Given the description of an element on the screen output the (x, y) to click on. 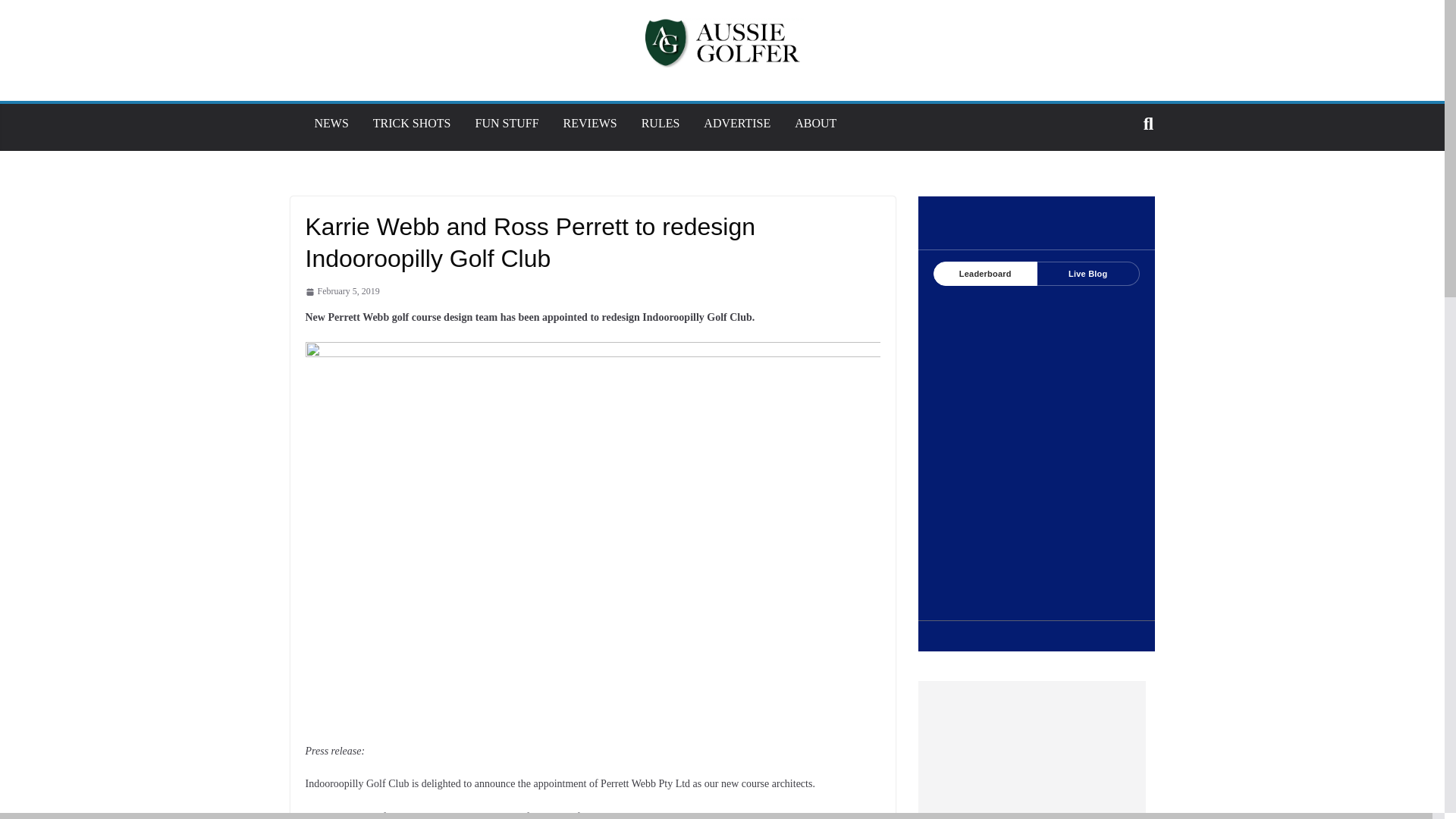
February 5, 2019 (341, 291)
11:20 (341, 291)
REVIEWS (590, 123)
FUN STUFF (507, 123)
NEWS (330, 123)
TRICK SHOTS (411, 123)
ABOUT (814, 123)
RULES (660, 123)
ADVERTISE (736, 123)
